Given the description of an element on the screen output the (x, y) to click on. 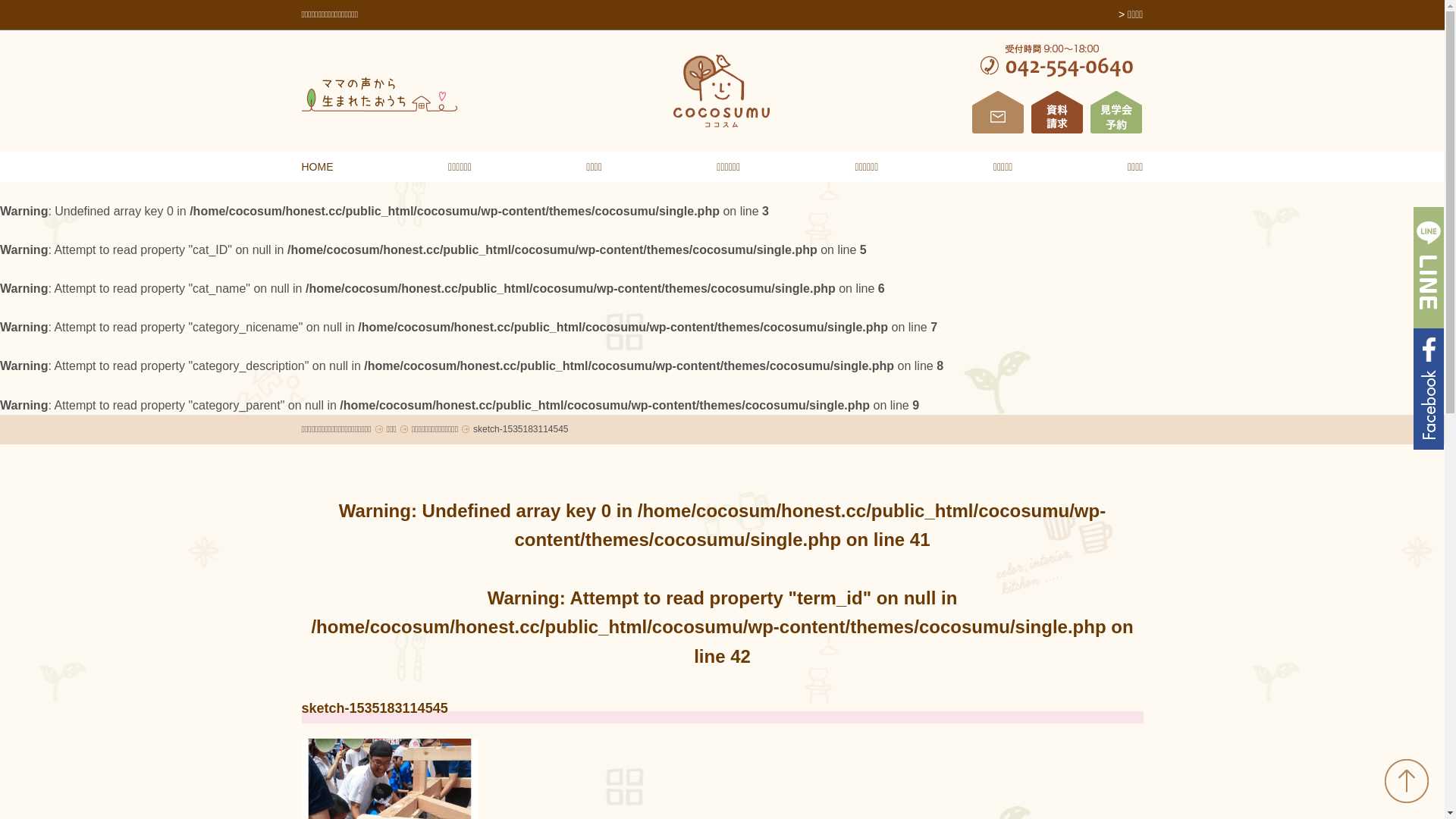
HOME Element type: text (317, 166)
